Given the description of an element on the screen output the (x, y) to click on. 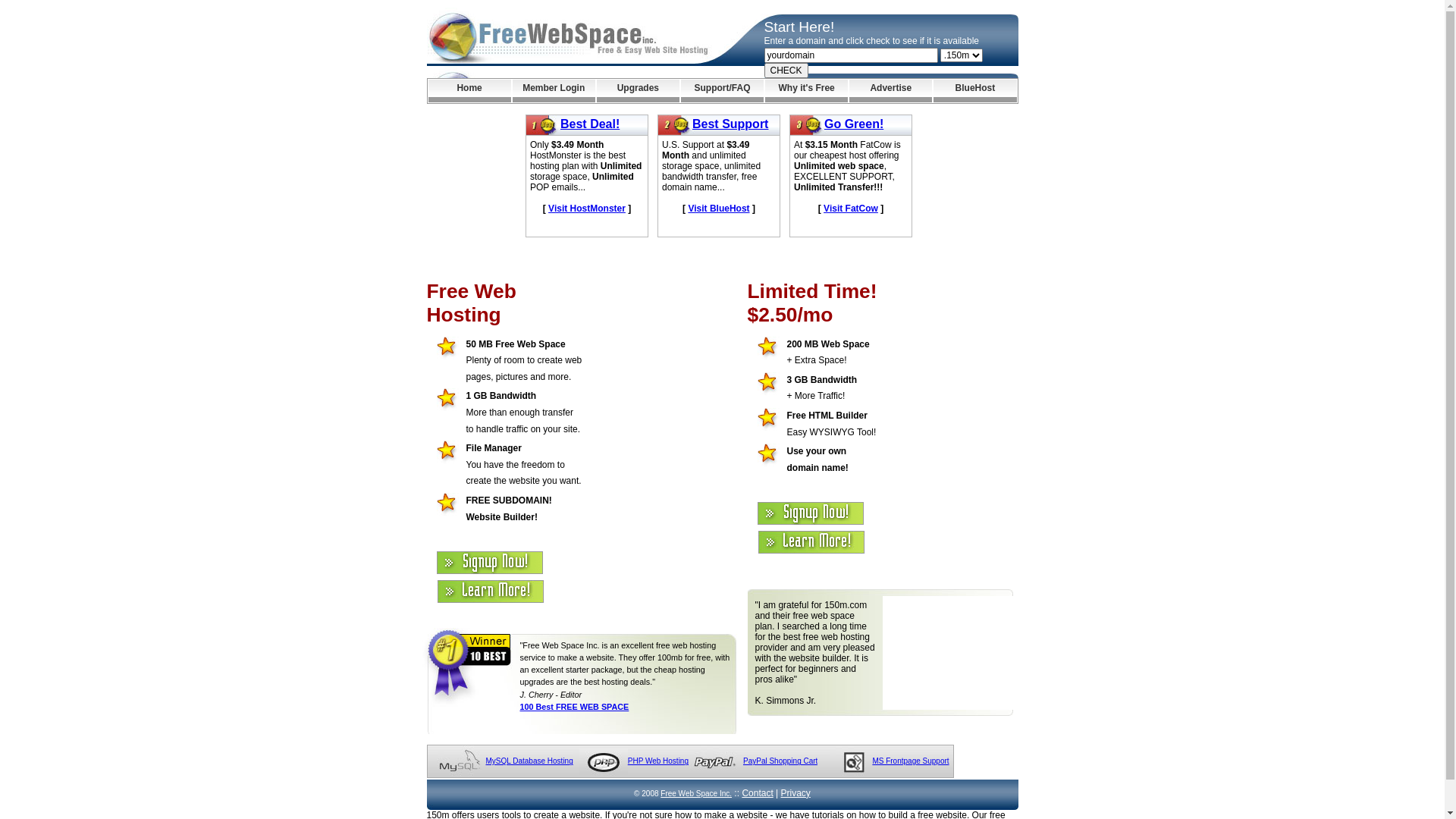
Privacy Element type: text (795, 792)
MySQL Database Hosting Element type: text (528, 760)
Member Login Element type: text (553, 90)
Upgrades Element type: text (637, 90)
Advertise Element type: text (890, 90)
MS Frontpage Support Element type: text (910, 760)
Home Element type: text (468, 90)
BlueHost Element type: text (974, 90)
Free Web Space Inc. Element type: text (695, 793)
Support/FAQ Element type: text (721, 90)
PHP Web Hosting Element type: text (657, 760)
Why it's Free Element type: text (806, 90)
Contact Element type: text (756, 792)
CHECK Element type: text (786, 70)
100 Best FREE WEB SPACE Element type: text (574, 706)
PayPal Shopping Cart Element type: text (780, 760)
